Given the description of an element on the screen output the (x, y) to click on. 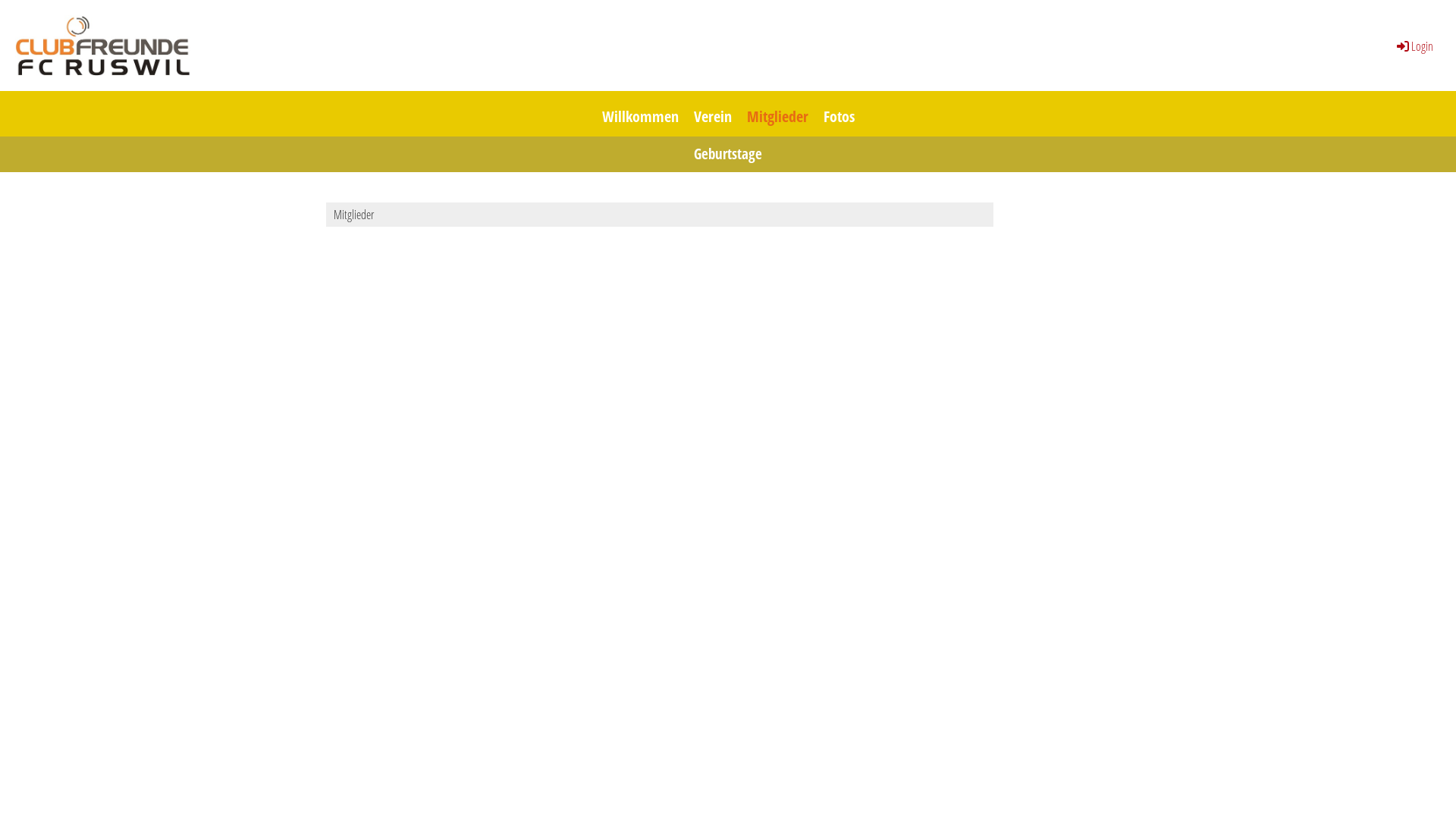
Geburtstage Element type: text (727, 154)
Willkommen Element type: text (640, 113)
Mitglieder Element type: text (659, 214)
Fotos Element type: text (838, 113)
Verein Element type: text (711, 113)
Login Element type: text (1413, 45)
Mitglieder Element type: text (776, 113)
